Given the description of an element on the screen output the (x, y) to click on. 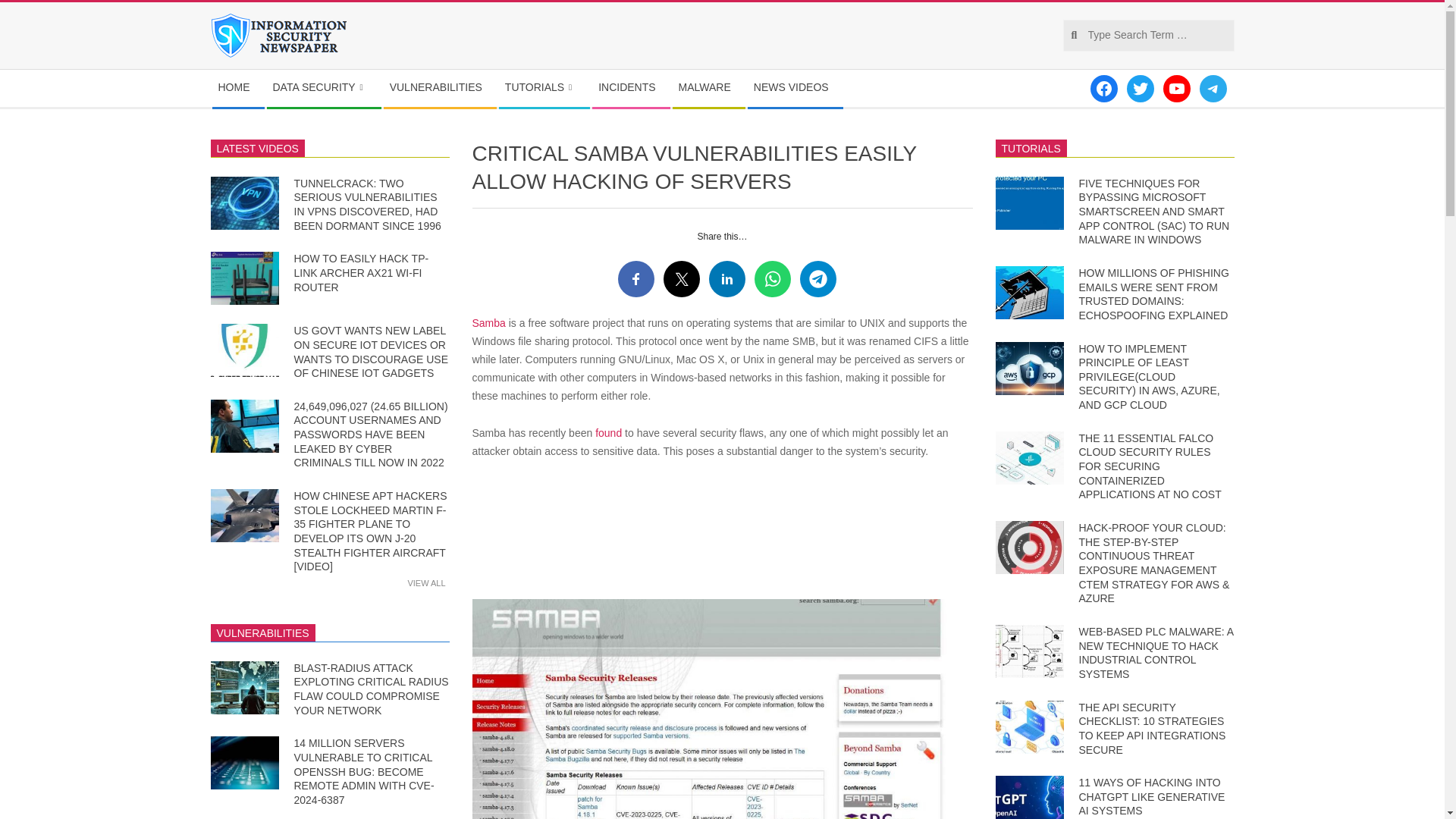
DATA SECURITY (322, 88)
Advertisement (722, 535)
VULNERABILITIES (439, 88)
TUTORIALS (544, 88)
HOME (237, 88)
